Given the description of an element on the screen output the (x, y) to click on. 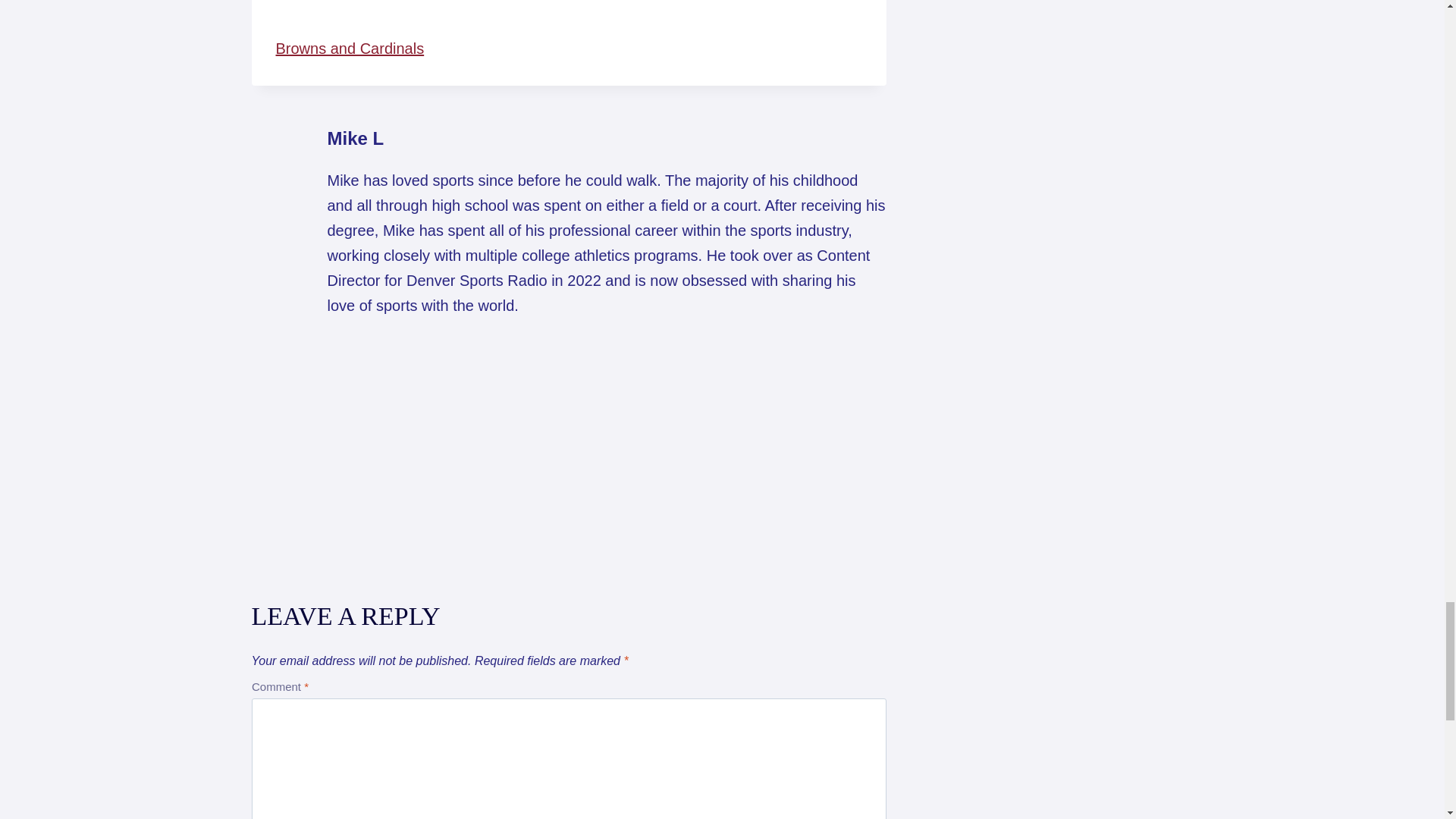
Browns and Cardinals (350, 48)
Mike L (355, 137)
Posts by Mike L (355, 137)
